Given the description of an element on the screen output the (x, y) to click on. 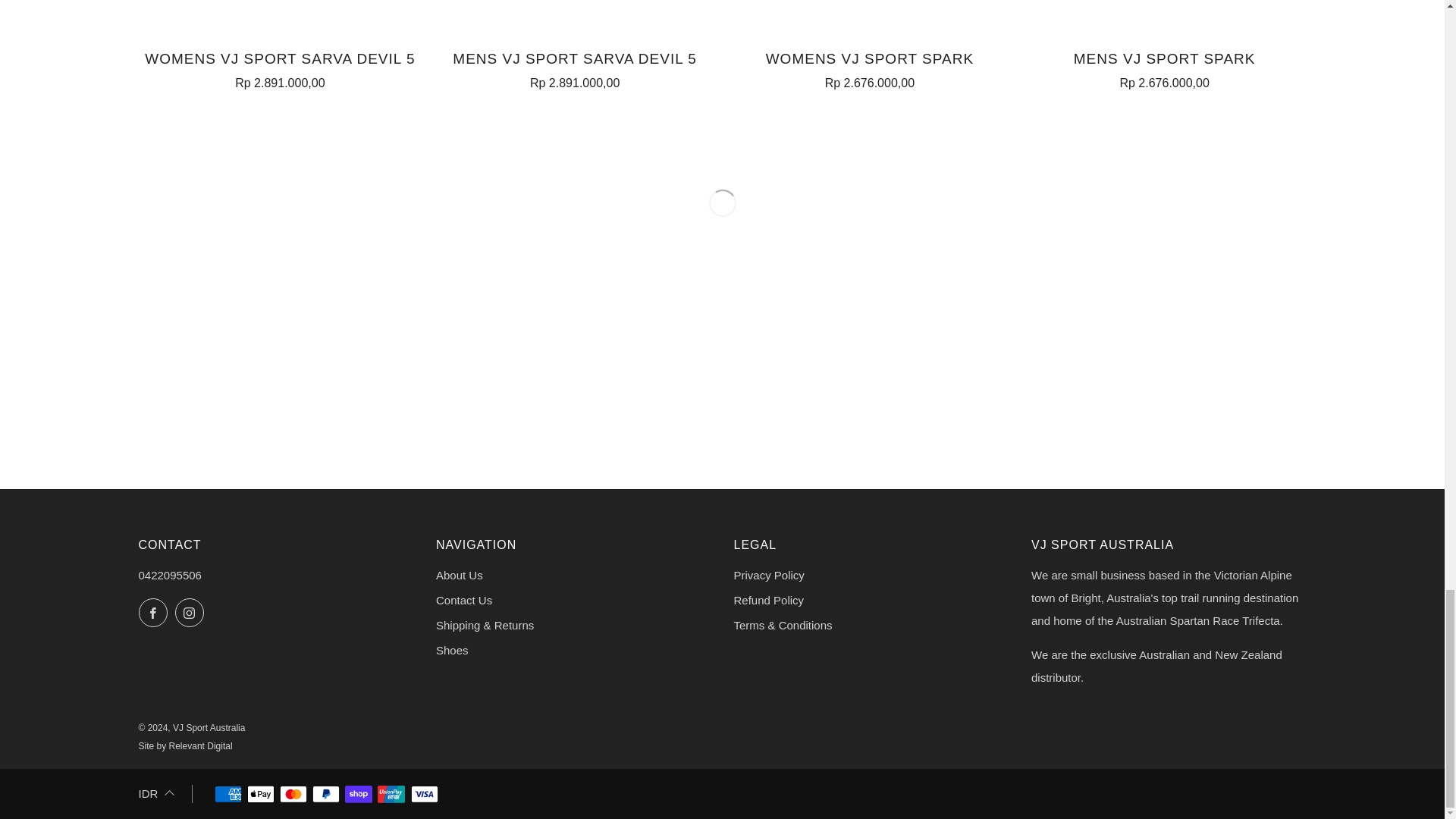
MENS VJ SPORT SARVA DEVIL 5 (574, 66)
WOMENS VJ SPORT SARVA DEVIL 5 (280, 66)
